Given the description of an element on the screen output the (x, y) to click on. 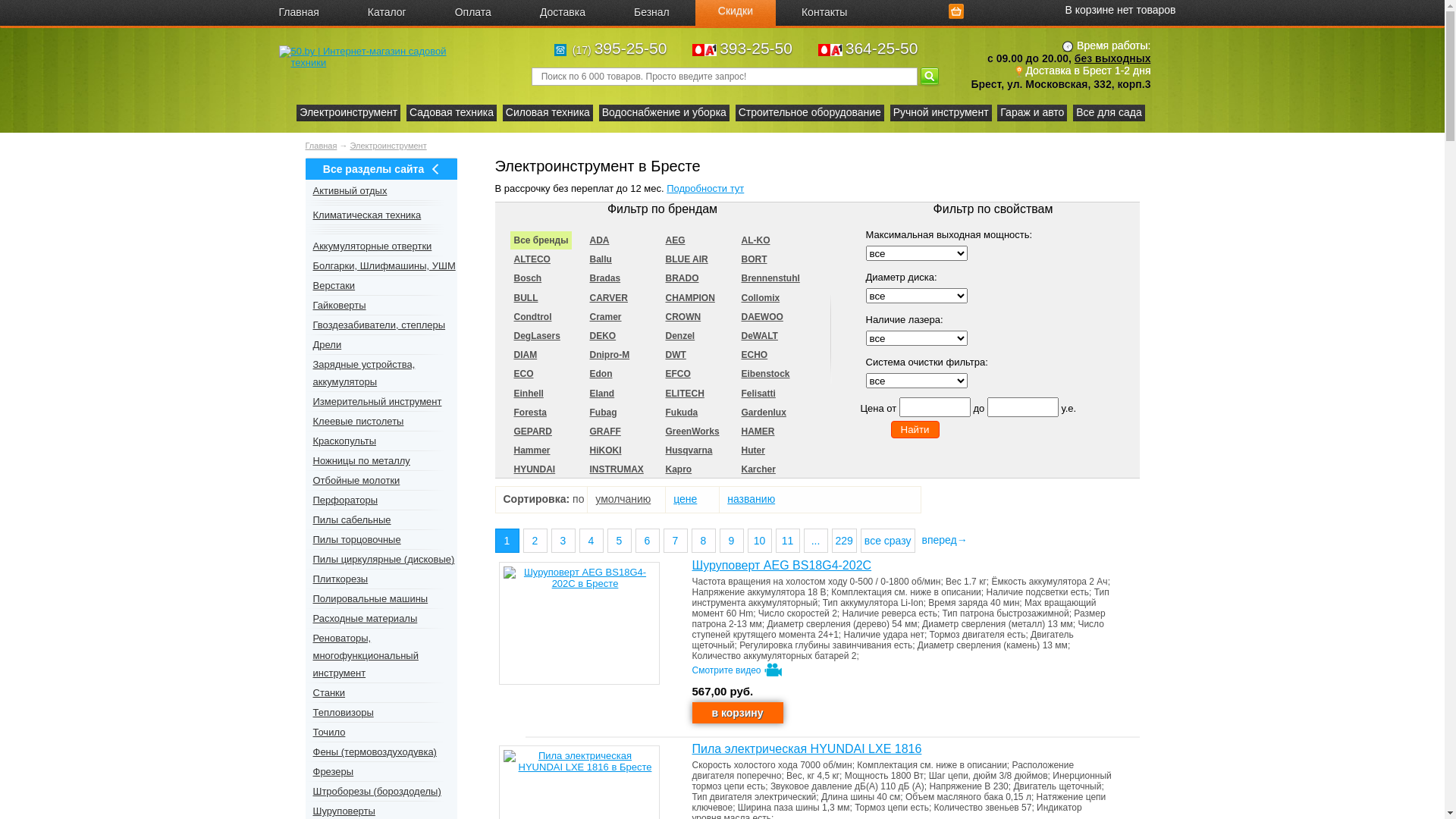
Einhell Element type: text (527, 392)
INSTRUMAX Element type: text (615, 469)
2 Element type: text (535, 540)
Edon Element type: text (600, 373)
Hammer Element type: text (531, 450)
Ballu Element type: text (600, 259)
Brennenstuhl Element type: text (770, 278)
Felisatti Element type: text (757, 392)
GEPARD Element type: text (532, 431)
7 Element type: text (674, 540)
ELITECH Element type: text (684, 392)
4 Element type: text (591, 540)
Condtrol Element type: text (532, 316)
1 Element type: text (506, 540)
Kapro Element type: text (678, 469)
BORT Element type: text (753, 259)
Eland Element type: text (601, 392)
AL-KO Element type: text (755, 240)
ECHO Element type: text (754, 354)
6 Element type: text (647, 540)
8 Element type: text (703, 540)
11 Element type: text (787, 540)
Eibenstock Element type: text (765, 373)
Fukuda Element type: text (681, 412)
DegLasers Element type: text (536, 335)
DIAM Element type: text (524, 354)
Foresta Element type: text (529, 412)
ADA Element type: text (598, 240)
EFCO Element type: text (677, 373)
... Element type: text (815, 540)
9 Element type: text (730, 540)
ECO Element type: text (522, 373)
Karcher Element type: text (757, 469)
GRAFF Element type: text (604, 431)
DEKO Element type: text (602, 335)
Huter Element type: text (752, 450)
Gardenlux Element type: text (763, 412)
CARVER Element type: text (607, 297)
DAEWOO Element type: text (761, 316)
3 Element type: text (562, 540)
Denzel Element type: text (679, 335)
10 Element type: text (759, 540)
Husqvarna Element type: text (688, 450)
AEG Element type: text (674, 240)
HYUNDAI Element type: text (533, 469)
DeWALT Element type: text (759, 335)
HiKOKI Element type: text (604, 450)
DWT Element type: text (675, 354)
CROWN Element type: text (682, 316)
BLUE AIR Element type: text (686, 259)
CHAMPION Element type: text (689, 297)
229 Element type: text (843, 540)
5 Element type: text (618, 540)
Bradas Element type: text (604, 278)
Bosch Element type: text (527, 278)
Dnipro-M Element type: text (609, 354)
ALTECO Element type: text (531, 259)
GreenWorks Element type: text (691, 431)
BULL Element type: text (525, 297)
Cramer Element type: text (604, 316)
BRADO Element type: text (681, 278)
HAMER Element type: text (757, 431)
Collomix Element type: text (760, 297)
Fubag Element type: text (602, 412)
